Given the description of an element on the screen output the (x, y) to click on. 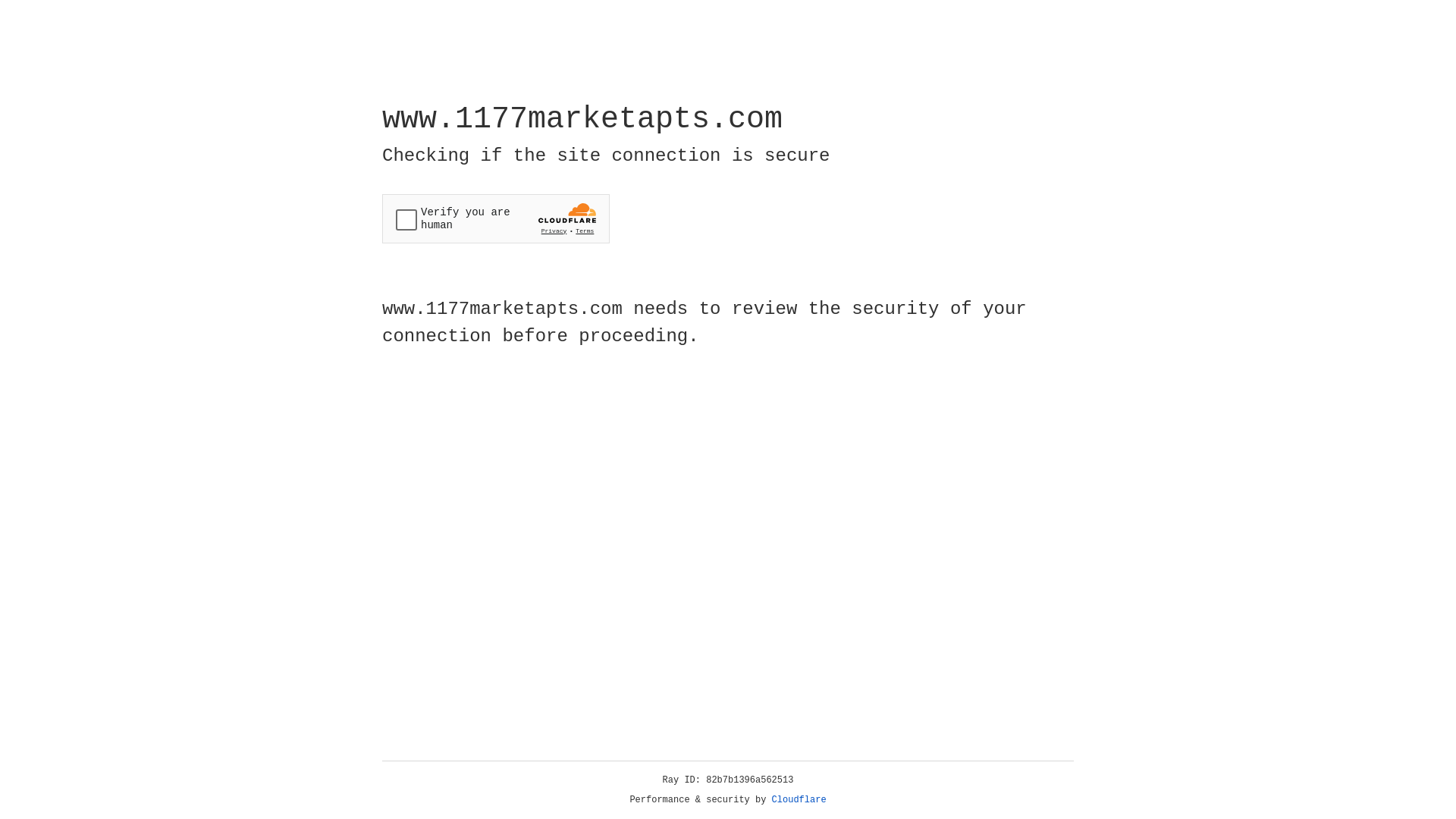
Widget containing a Cloudflare security challenge Element type: hover (495, 218)
Cloudflare Element type: text (798, 799)
